Given the description of an element on the screen output the (x, y) to click on. 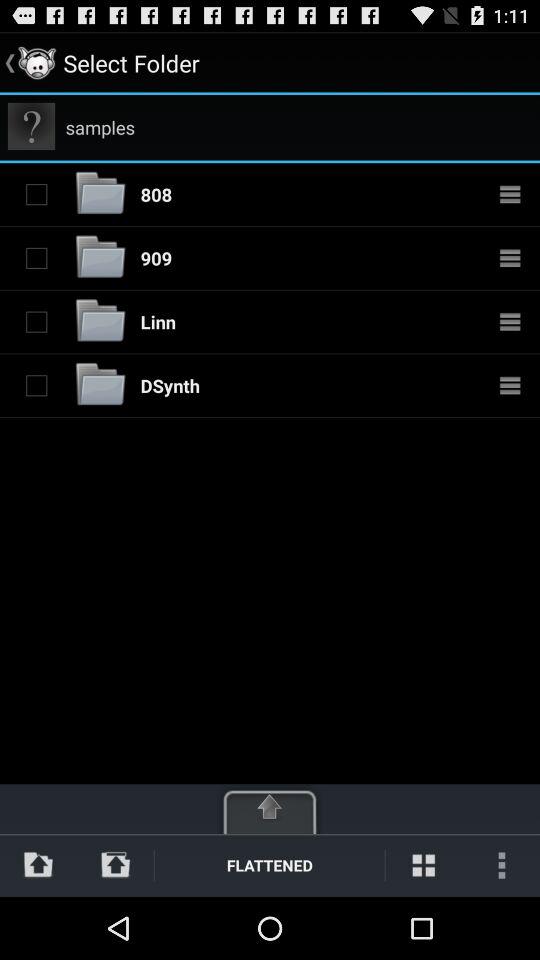
more options (510, 385)
